Given the description of an element on the screen output the (x, y) to click on. 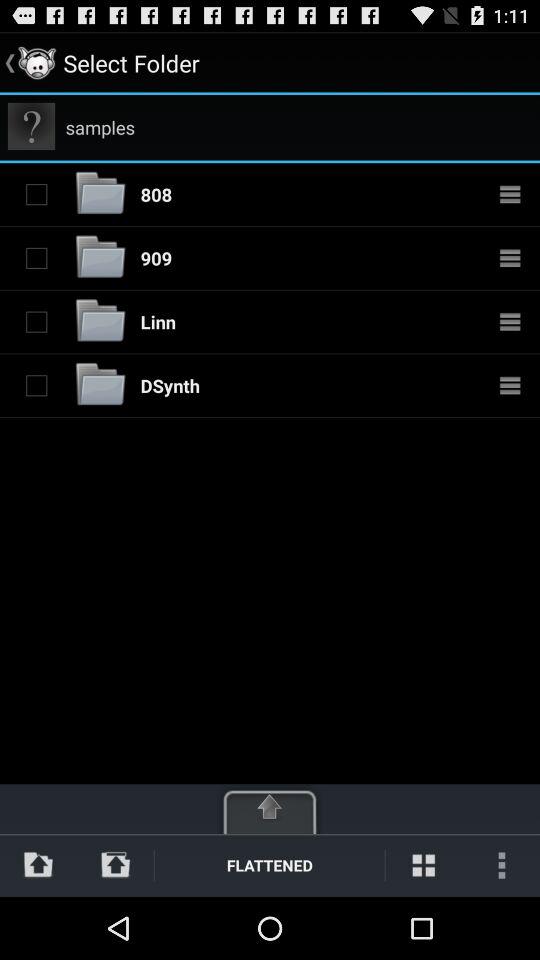
more options (510, 385)
